Given the description of an element on the screen output the (x, y) to click on. 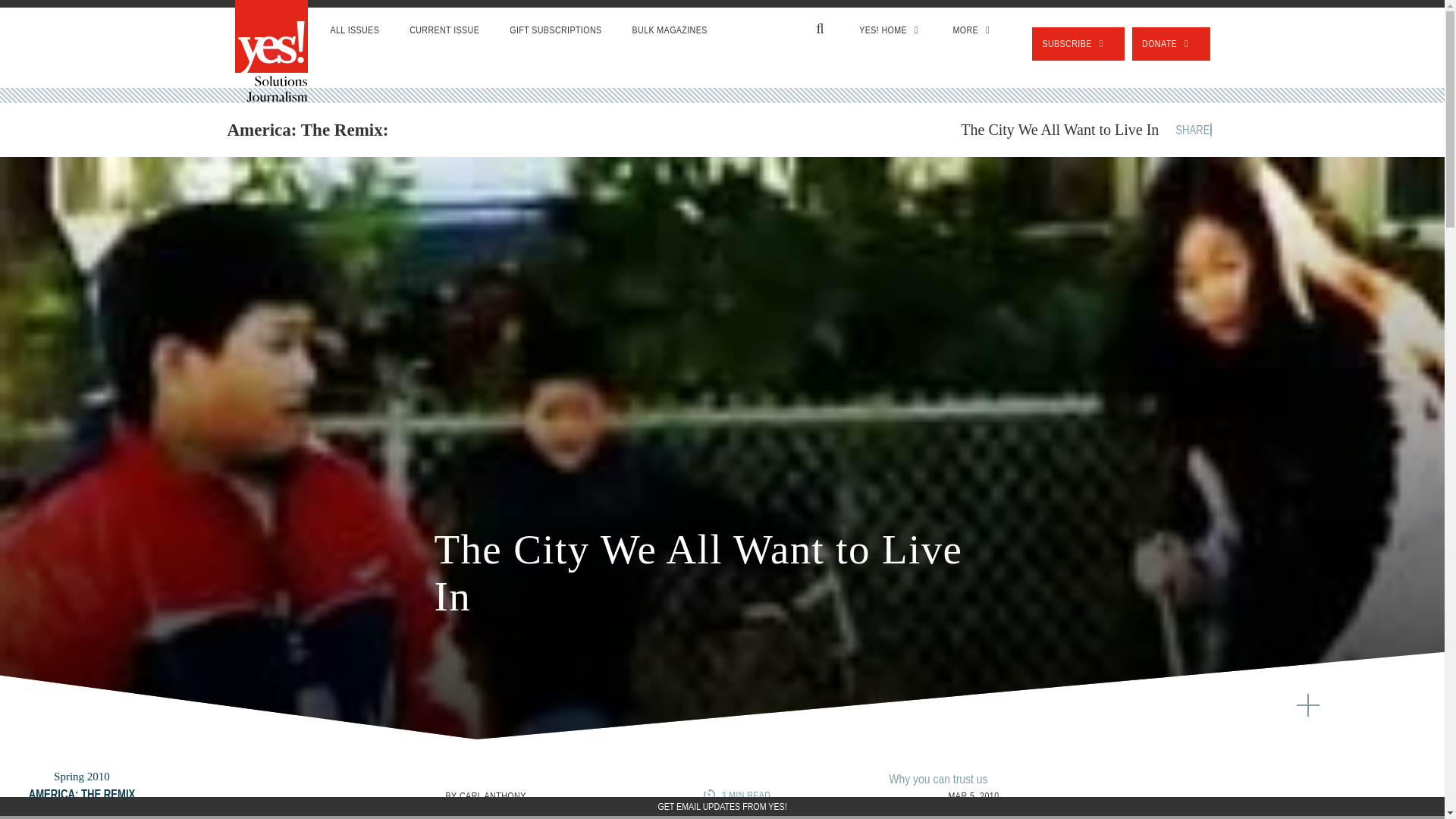
ALL ISSUES (354, 30)
CURRENT ISSUE (444, 30)
SUBSCRIBE (1078, 43)
BULK MAGAZINES (669, 30)
GIFT SUBSCRIPTIONS (555, 30)
MORE (973, 30)
YES! HOME (890, 30)
DONATE (1170, 43)
